Given the description of an element on the screen output the (x, y) to click on. 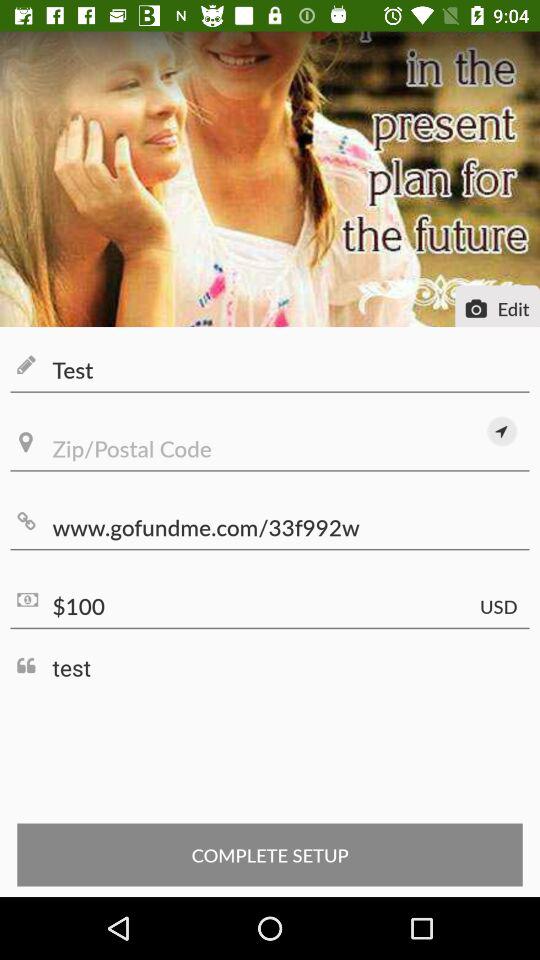
open icon above the www gofundme com (502, 431)
